Given the description of an element on the screen output the (x, y) to click on. 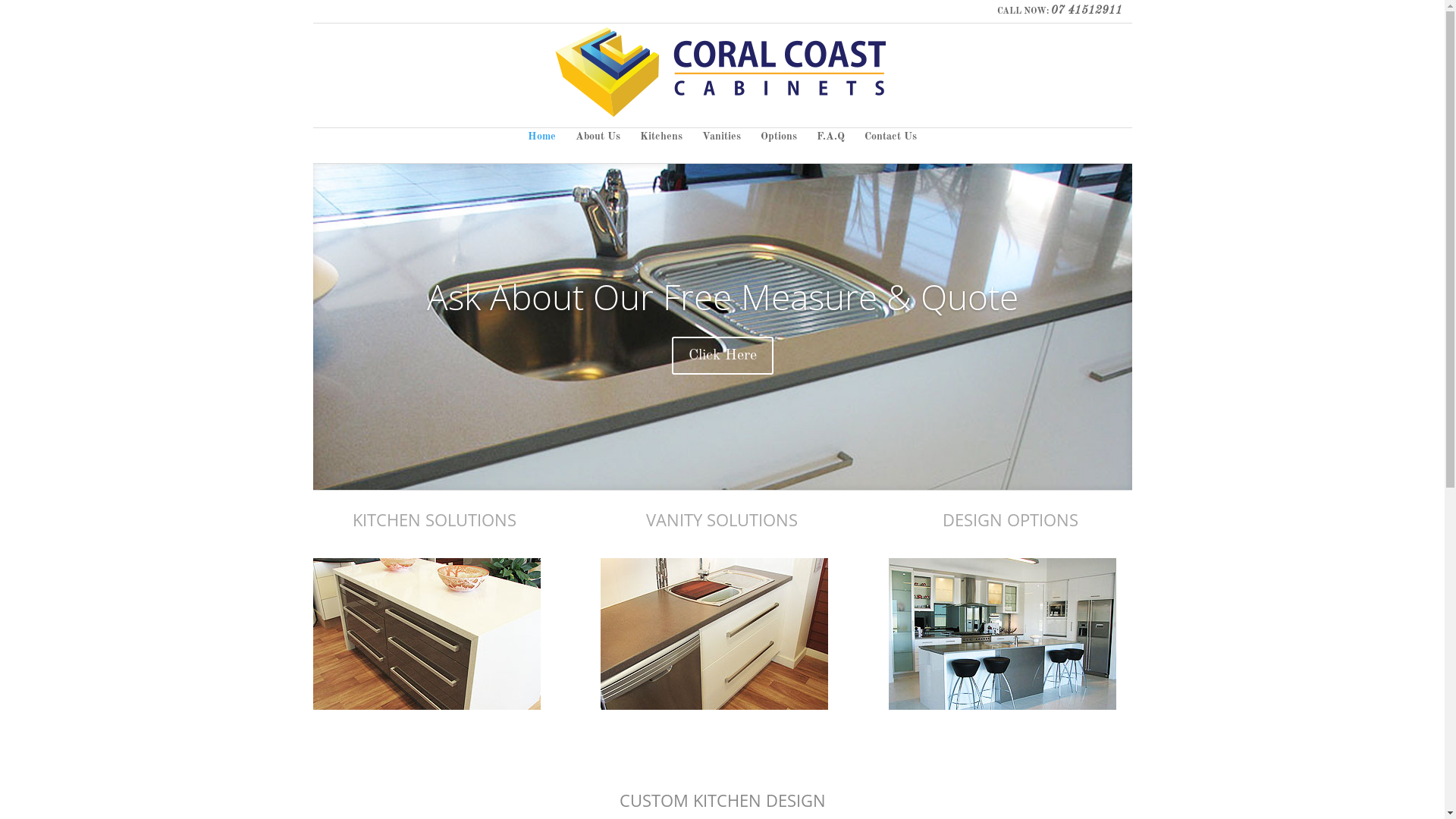
Options Element type: text (778, 147)
About Us Element type: text (597, 147)
Vanities Element type: text (721, 147)
Contact Us Element type: text (890, 147)
Click Here Element type: text (722, 355)
Ask About Our Free Measure & Quote Element type: text (721, 296)
Home Element type: text (541, 147)
Kitchens Element type: text (661, 147)
F.A.Q Element type: text (830, 147)
07 41512911 Element type: text (1086, 10)
